Given the description of an element on the screen output the (x, y) to click on. 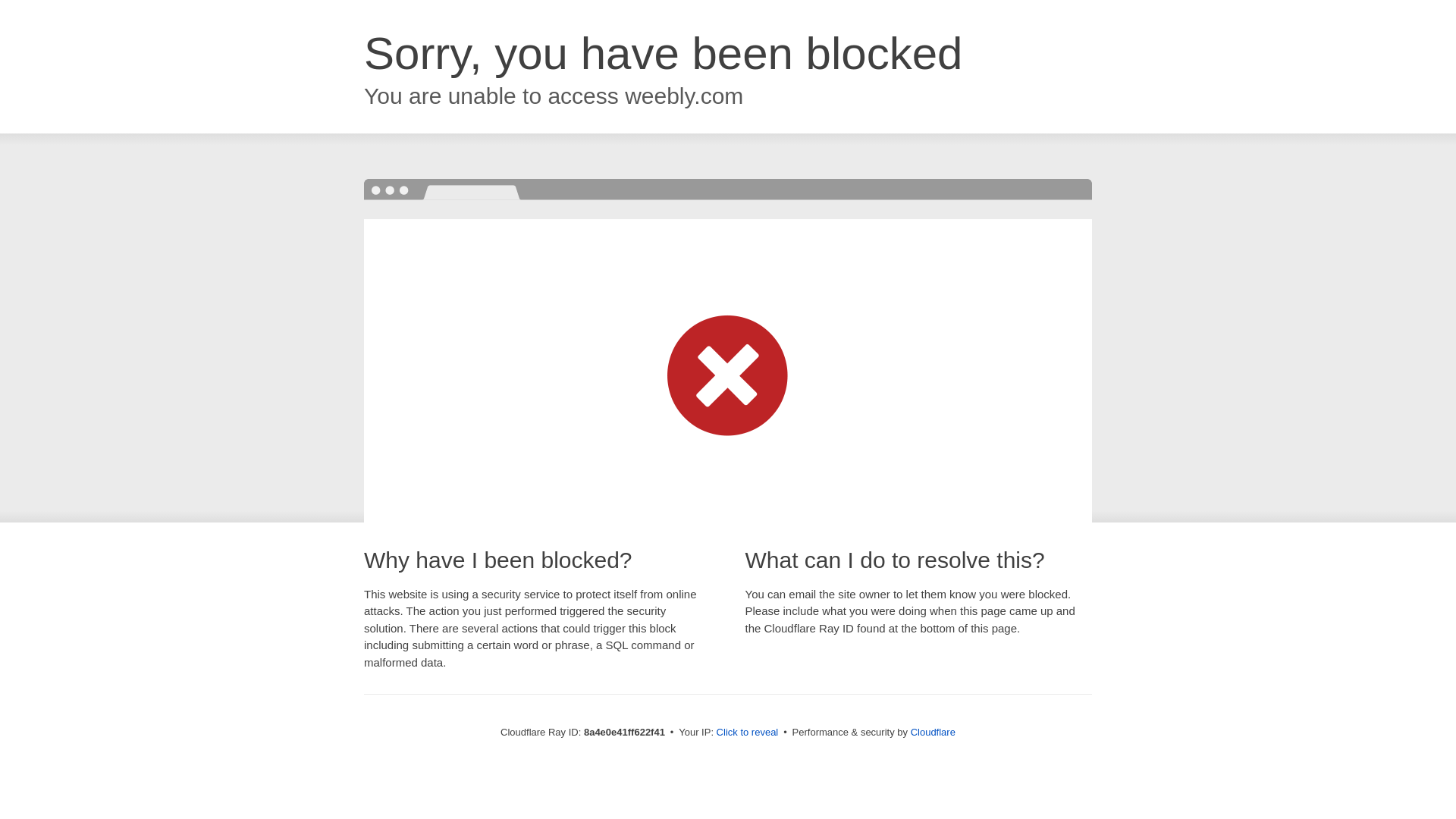
Cloudflare (933, 731)
Click to reveal (747, 732)
